Given the description of an element on the screen output the (x, y) to click on. 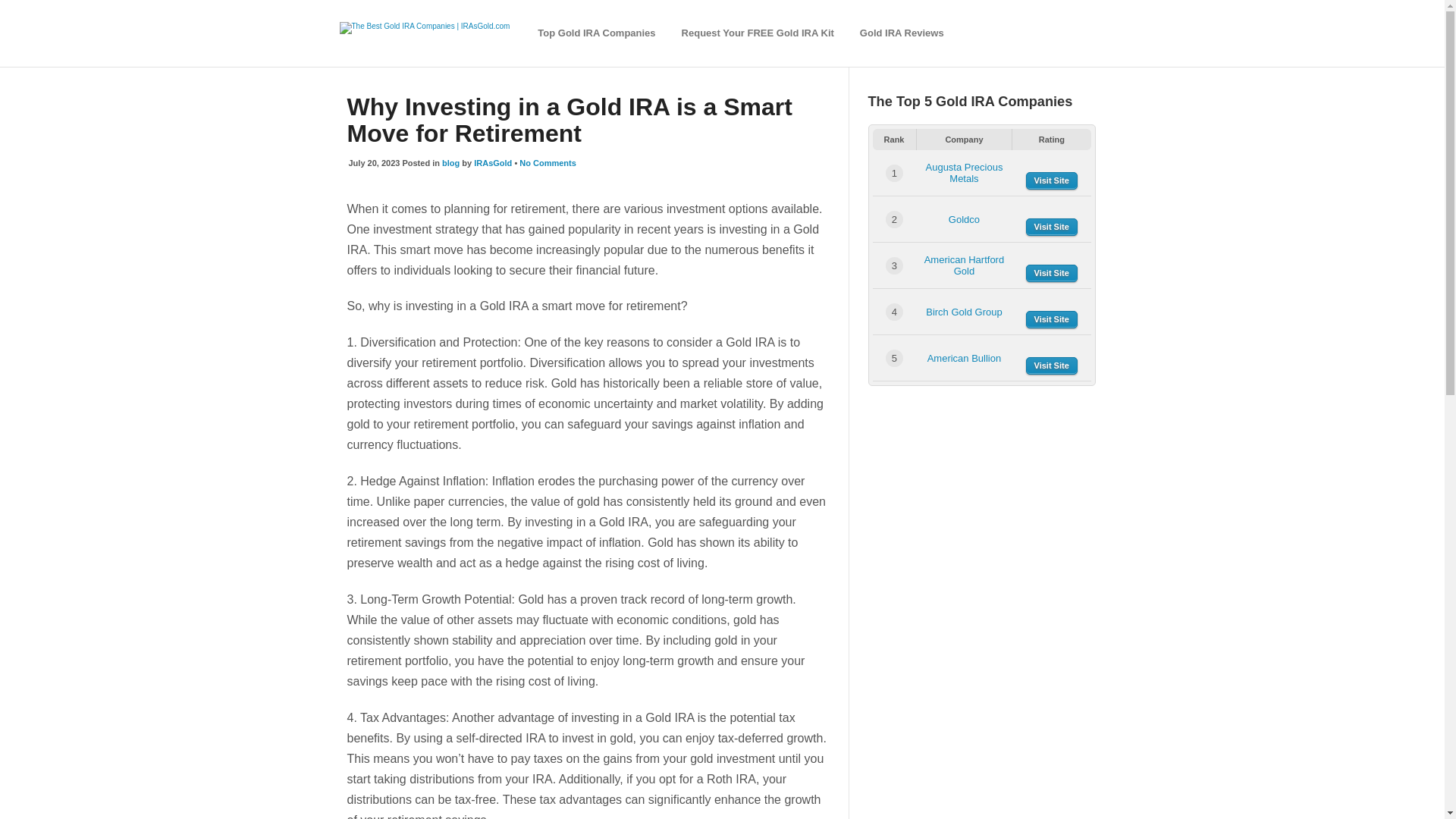
Visit Site (1051, 365)
Visit (1051, 365)
Visit (1051, 272)
American Bullion (964, 357)
Augusta Precious Metals (963, 172)
Visit (1051, 226)
No Comments (547, 162)
Visit Site (1051, 319)
Visit (1051, 180)
Visit (1051, 319)
American Hartford Gold (964, 264)
Visit Site (1051, 180)
Birch Gold Group (963, 311)
American Hartford Gold (964, 264)
Goldco (964, 219)
